Given the description of an element on the screen output the (x, y) to click on. 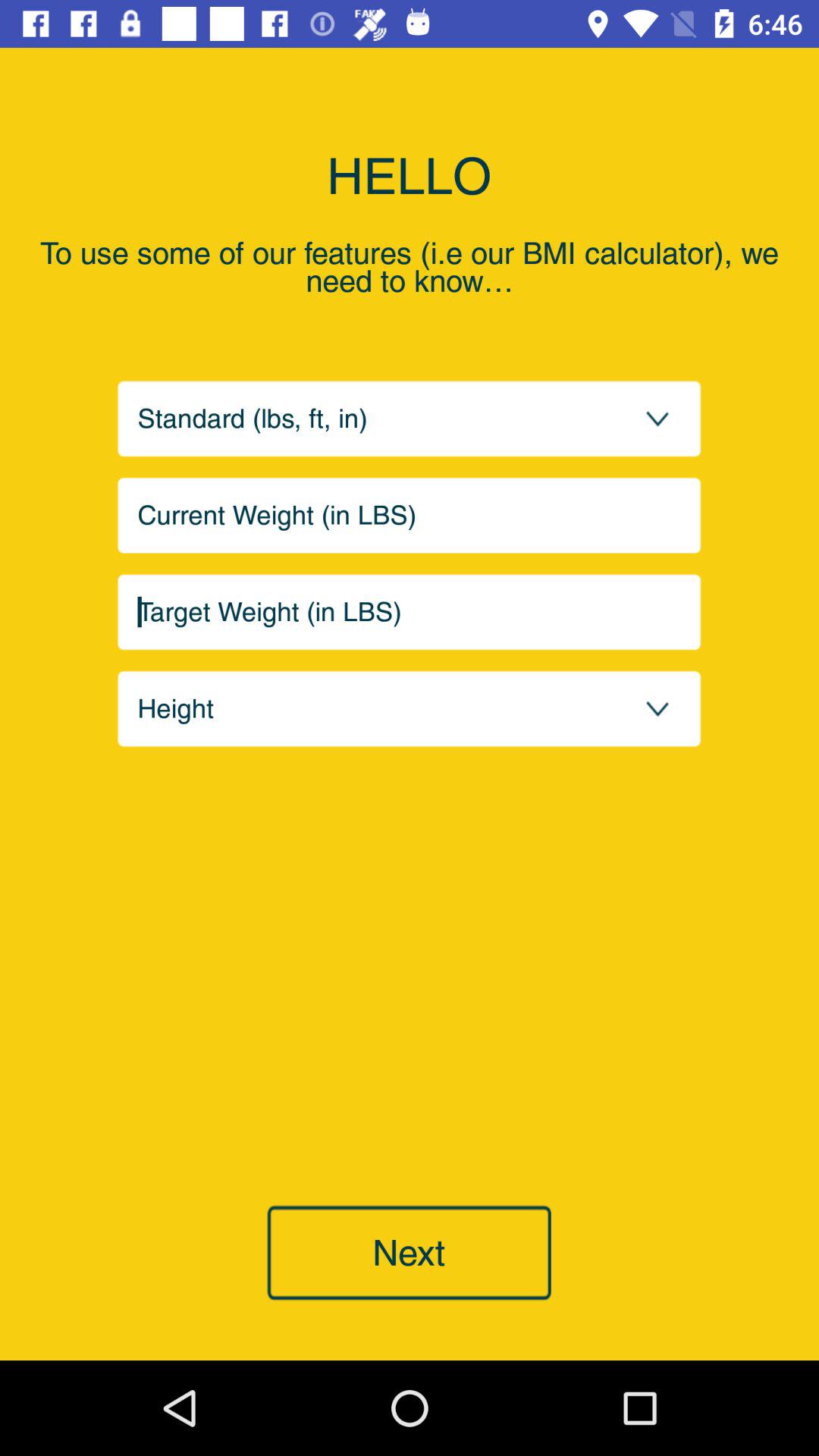
body height option (409, 708)
